Given the description of an element on the screen output the (x, y) to click on. 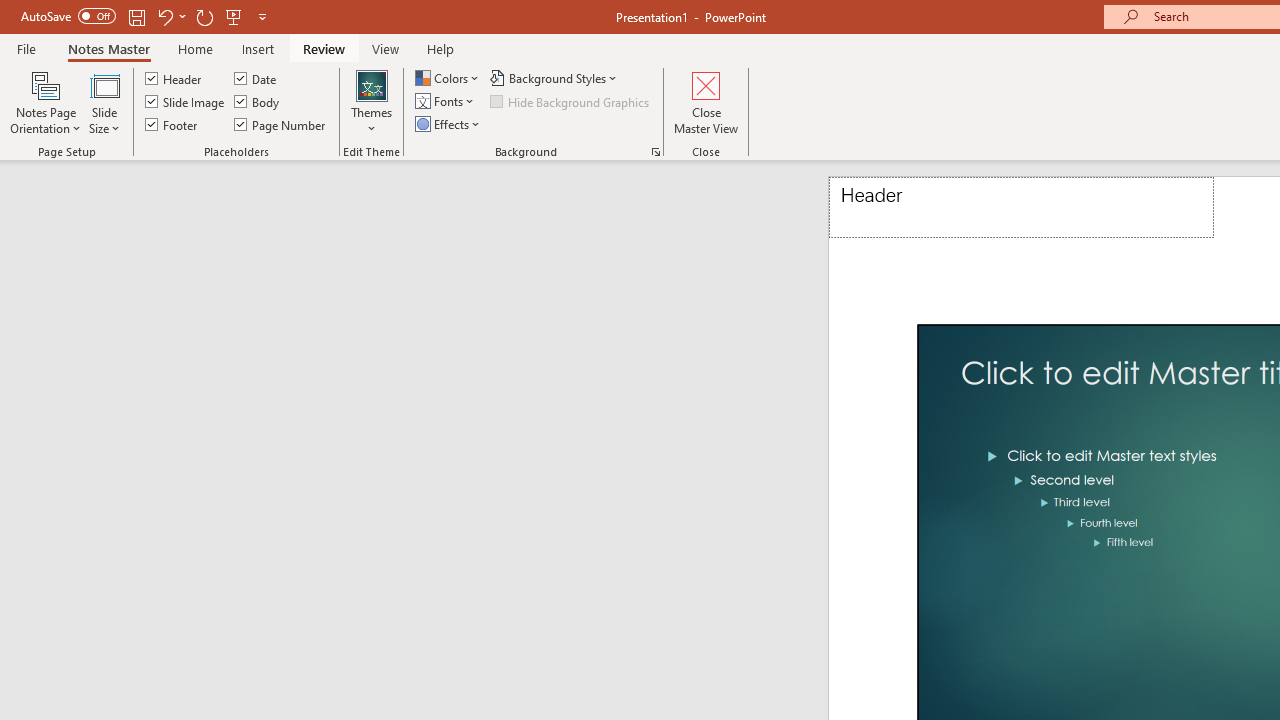
Page Number (280, 124)
Fonts (446, 101)
Footer (172, 124)
Slide Image (186, 101)
Themes (372, 102)
Effects (449, 124)
Format Background... (655, 151)
Background Styles (555, 78)
